Given the description of an element on the screen output the (x, y) to click on. 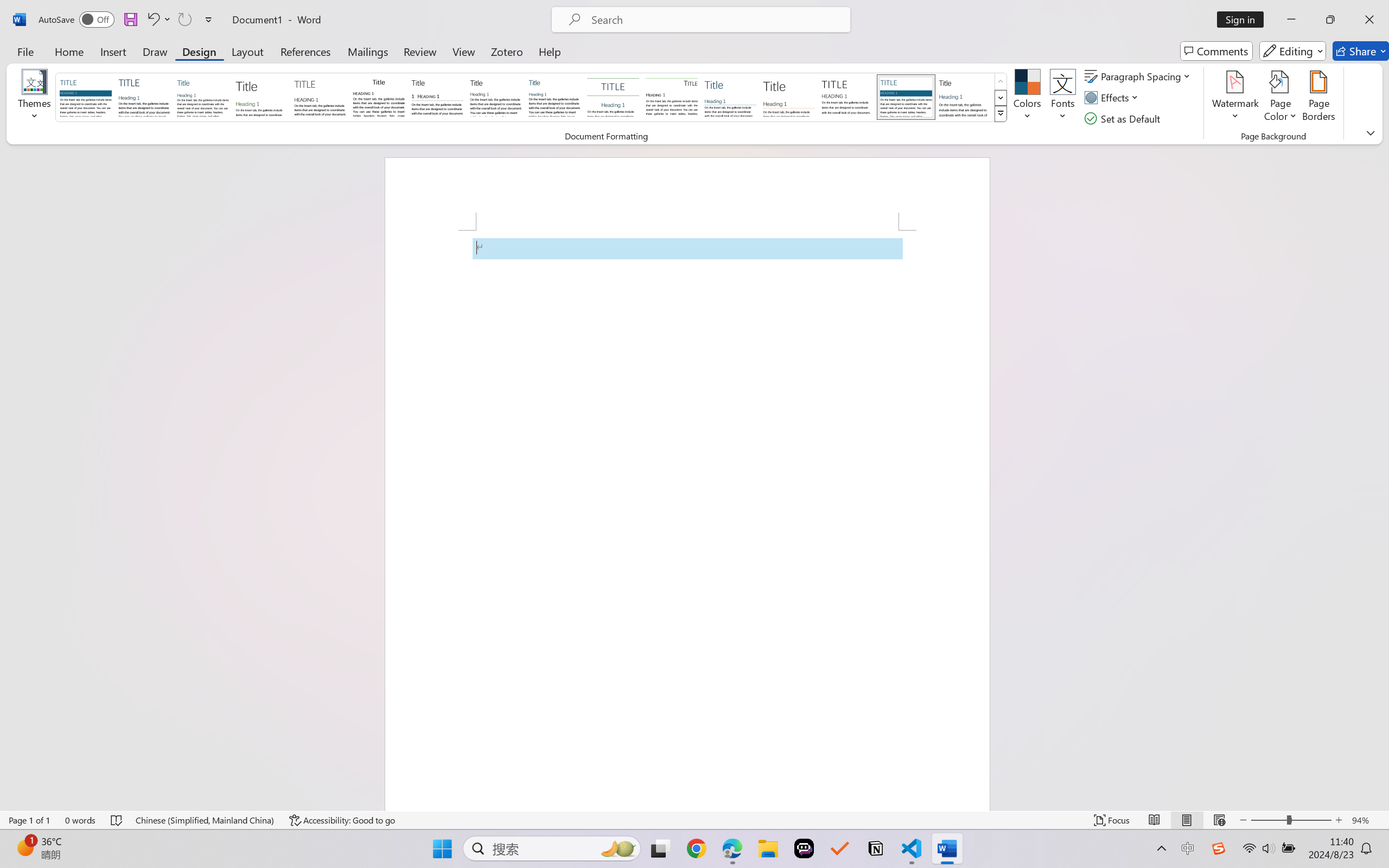
Watermark (1235, 97)
Undo Apply Quick Style (158, 19)
Page Color (1280, 97)
Paragraph Spacing (1139, 75)
Black & White (Classic) (379, 96)
Page Borders... (1318, 97)
